Given the description of an element on the screen output the (x, y) to click on. 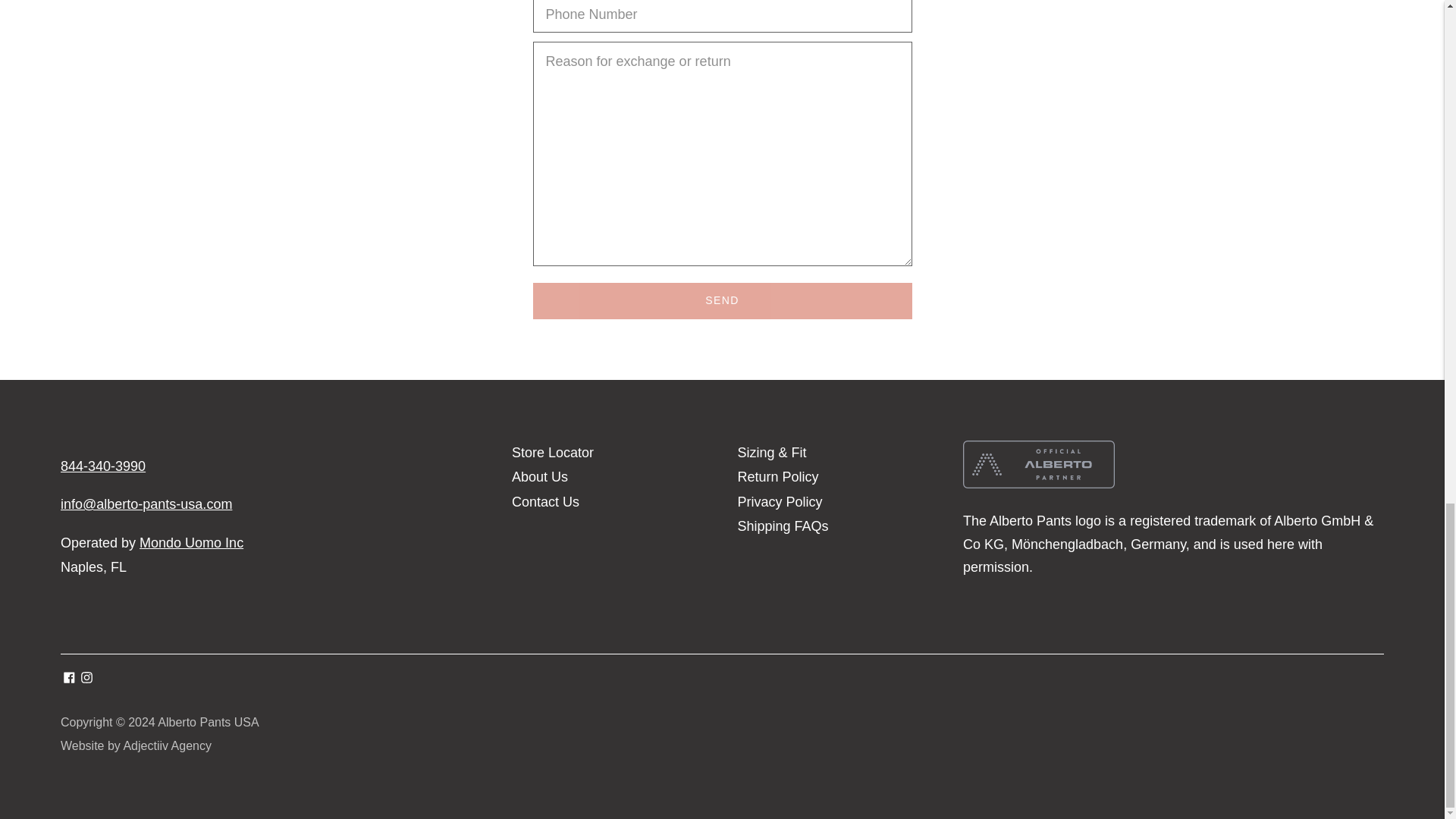
Alberto-pants-USA on Instagram (87, 678)
Alberto-pants-USA on Facebook (69, 678)
Email (146, 503)
tel:8443403990 (103, 466)
